Given the description of an element on the screen output the (x, y) to click on. 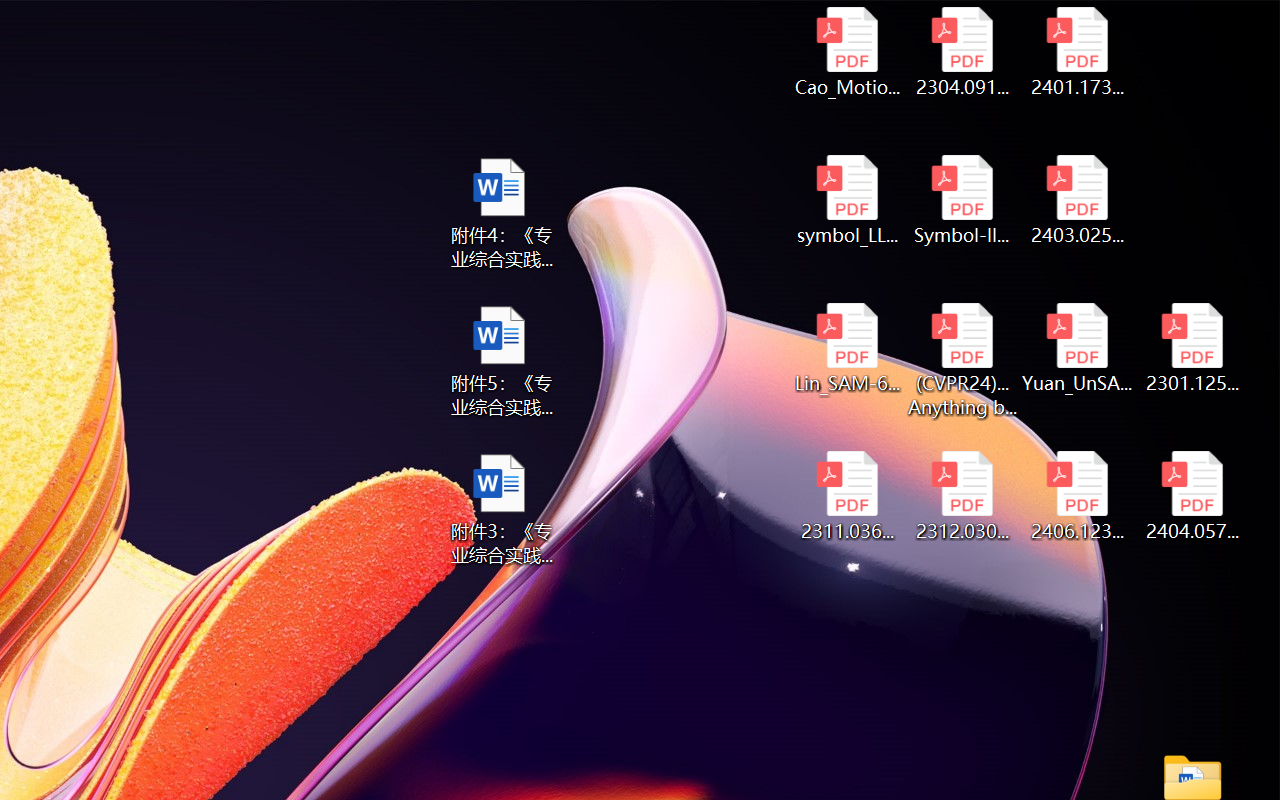
2301.12597v3.pdf (1192, 348)
